Given the description of an element on the screen output the (x, y) to click on. 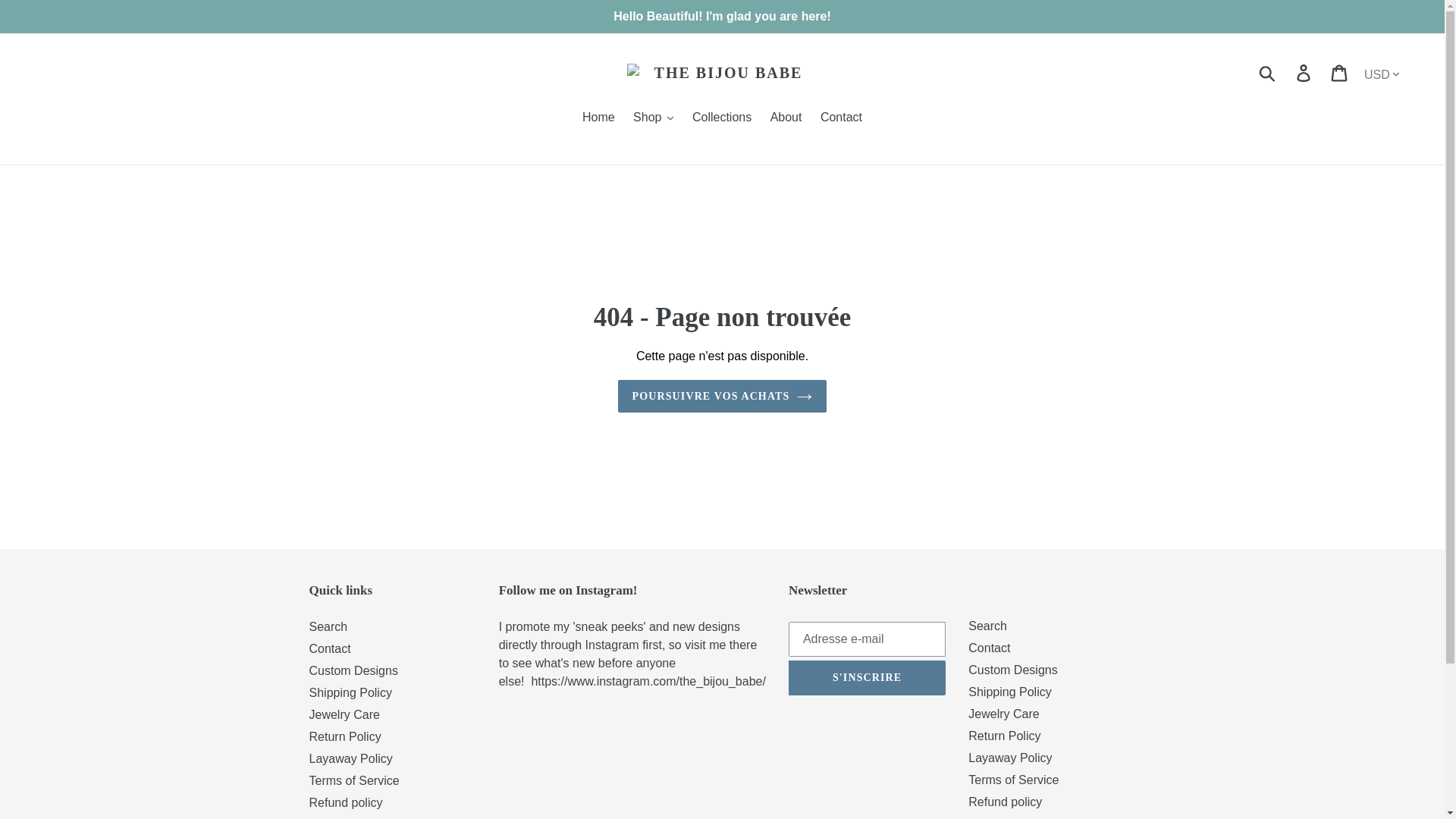
POURSUIVRE VOS ACHATS (722, 396)
Contact (329, 648)
Collections (721, 118)
Panier (1340, 72)
Se connecter (1304, 72)
Contact (840, 118)
About (785, 118)
Soumettre (1268, 72)
Search (327, 626)
Home (599, 118)
Custom Designs (352, 670)
